Given the description of an element on the screen output the (x, y) to click on. 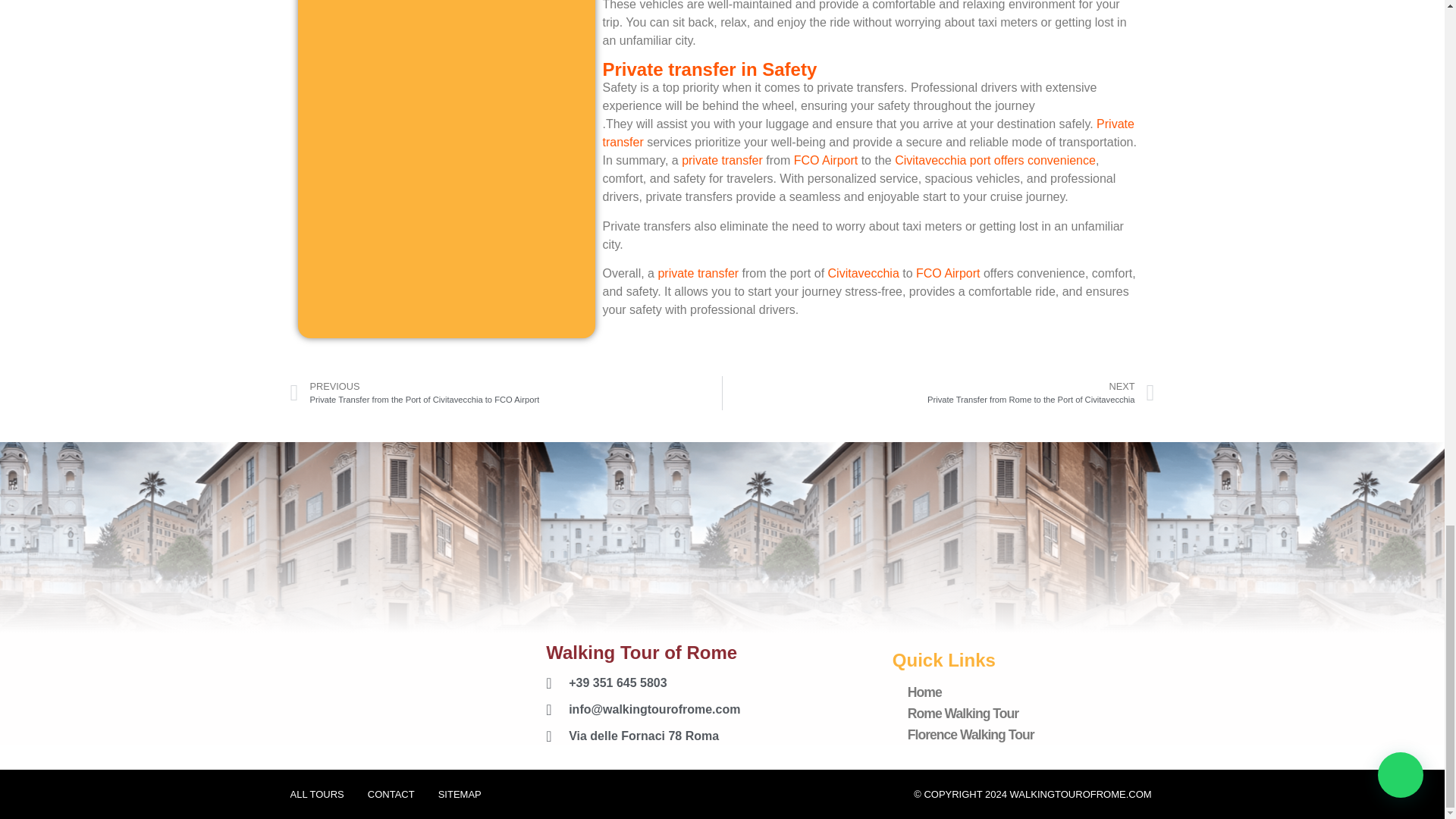
logo Walking Tour of Rome (382, 706)
